Given the description of an element on the screen output the (x, y) to click on. 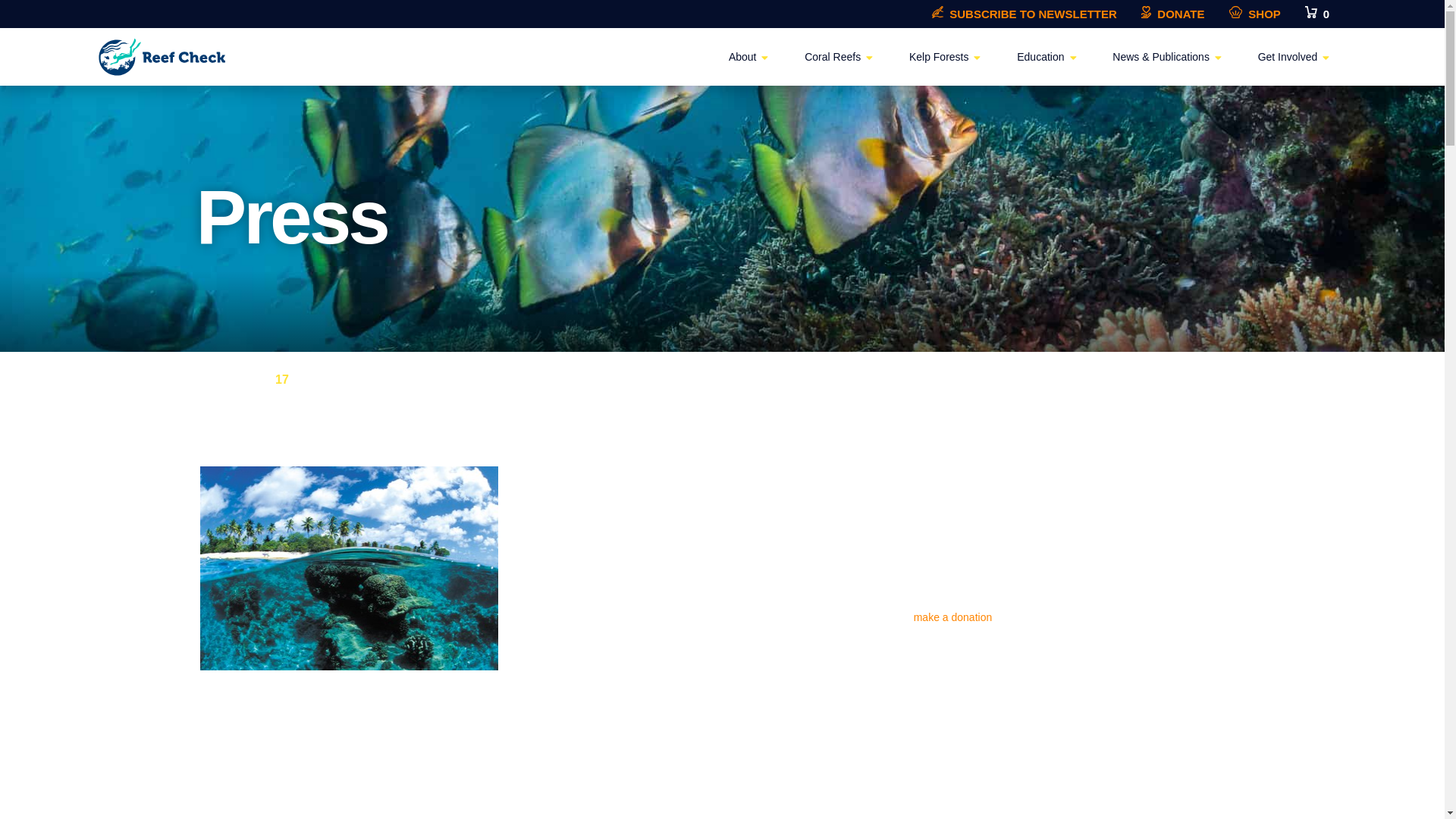
SUBSCRIBE TO NEWSLETTER (1023, 13)
SHOP (1254, 13)
DONATE (1173, 13)
0 (1316, 13)
View your shopping cart (1316, 13)
